Given the description of an element on the screen output the (x, y) to click on. 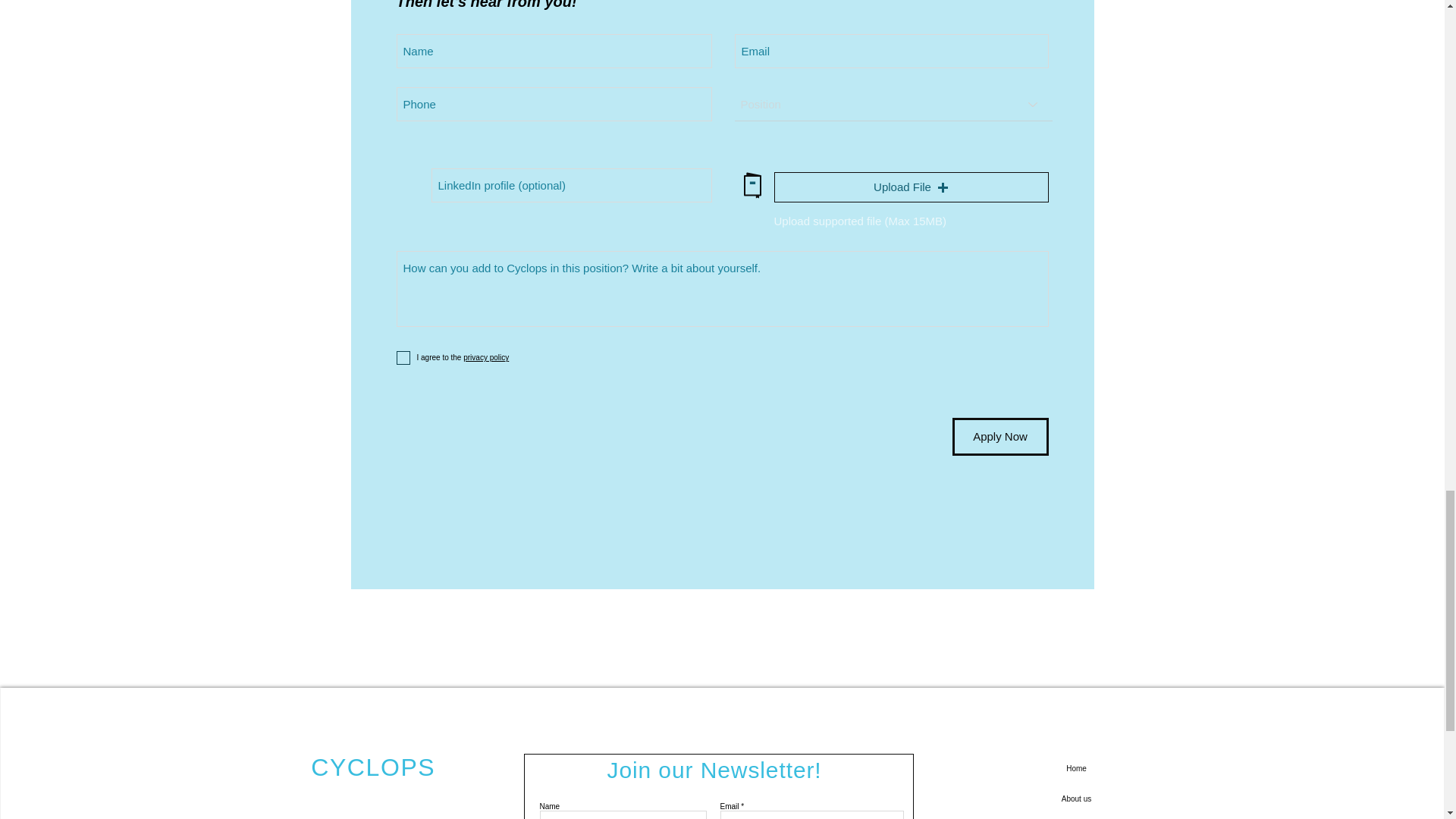
CYCLOPS (373, 767)
About us (1075, 798)
Services (1075, 816)
privacy policy (484, 356)
Apply Now (1000, 436)
Home (1075, 768)
